Given the description of an element on the screen output the (x, y) to click on. 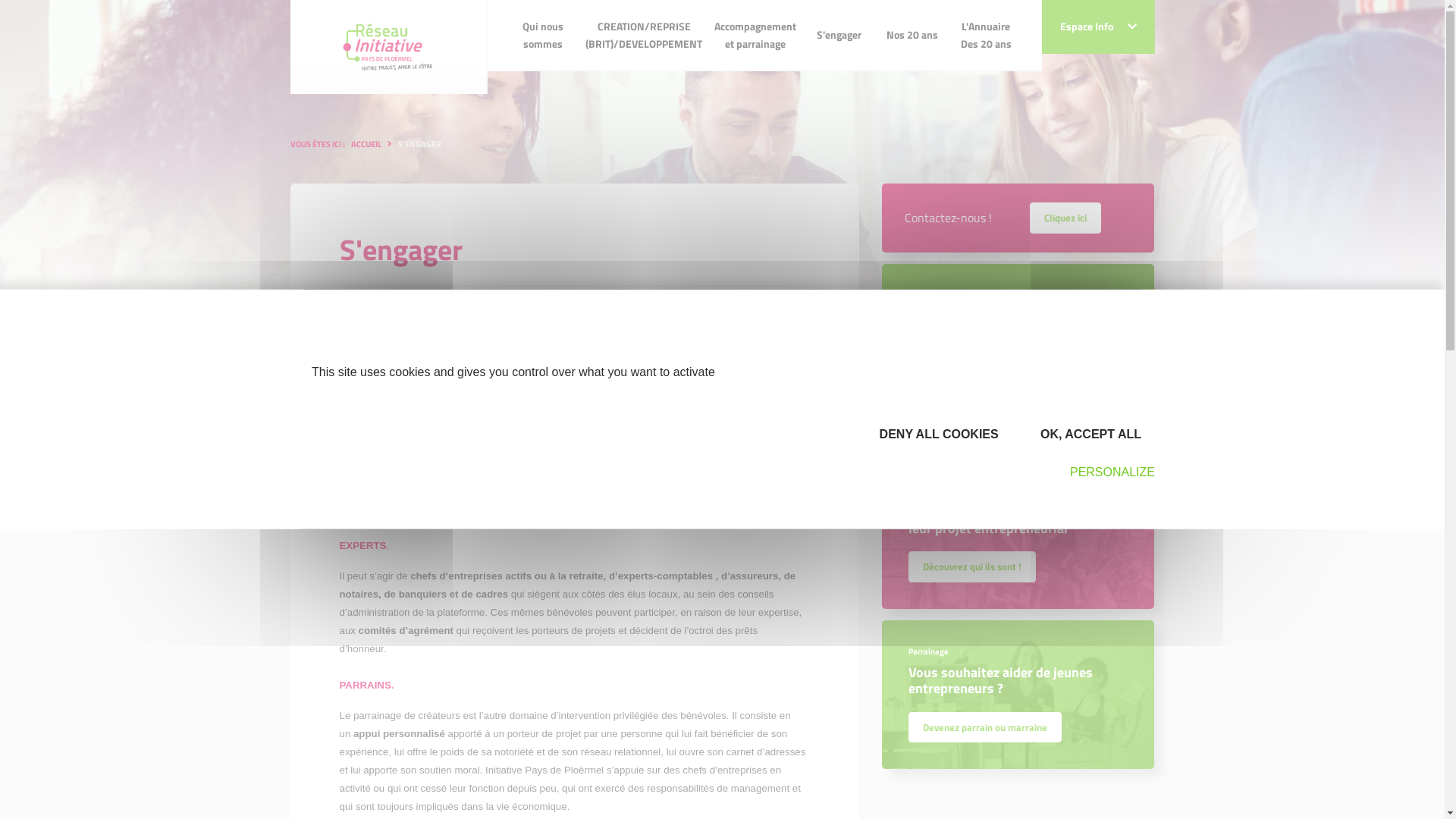
S'ENGAGER Element type: text (418, 144)
CREATION/REPRISE (BRIT)/DEVELOPPEMENT Element type: text (643, 35)
PERSONALIZE Element type: text (1105, 472)
DENY ALL COOKIES Element type: text (934, 434)
Espace Info Element type: text (1097, 26)
OK, ACCEPT ALL Element type: text (1086, 434)
Cliquez ici Element type: text (1065, 216)
Cliquez ici Element type: text (1065, 217)
Accompagnement et parrainage Element type: text (755, 35)
Devenez parrain ou marraine Element type: text (984, 725)
Devenez parrain ou marraine Element type: text (984, 727)
En savoir plus Element type: text (952, 406)
Qui nous sommes Element type: text (543, 35)
En savoir plus Element type: text (952, 404)
L'Annuaire Des 20 ans Element type: text (985, 35)
ACCUEIL Element type: text (365, 144)
Nos 20 ans Element type: text (912, 34)
S'engager Element type: text (838, 34)
